Given the description of an element on the screen output the (x, y) to click on. 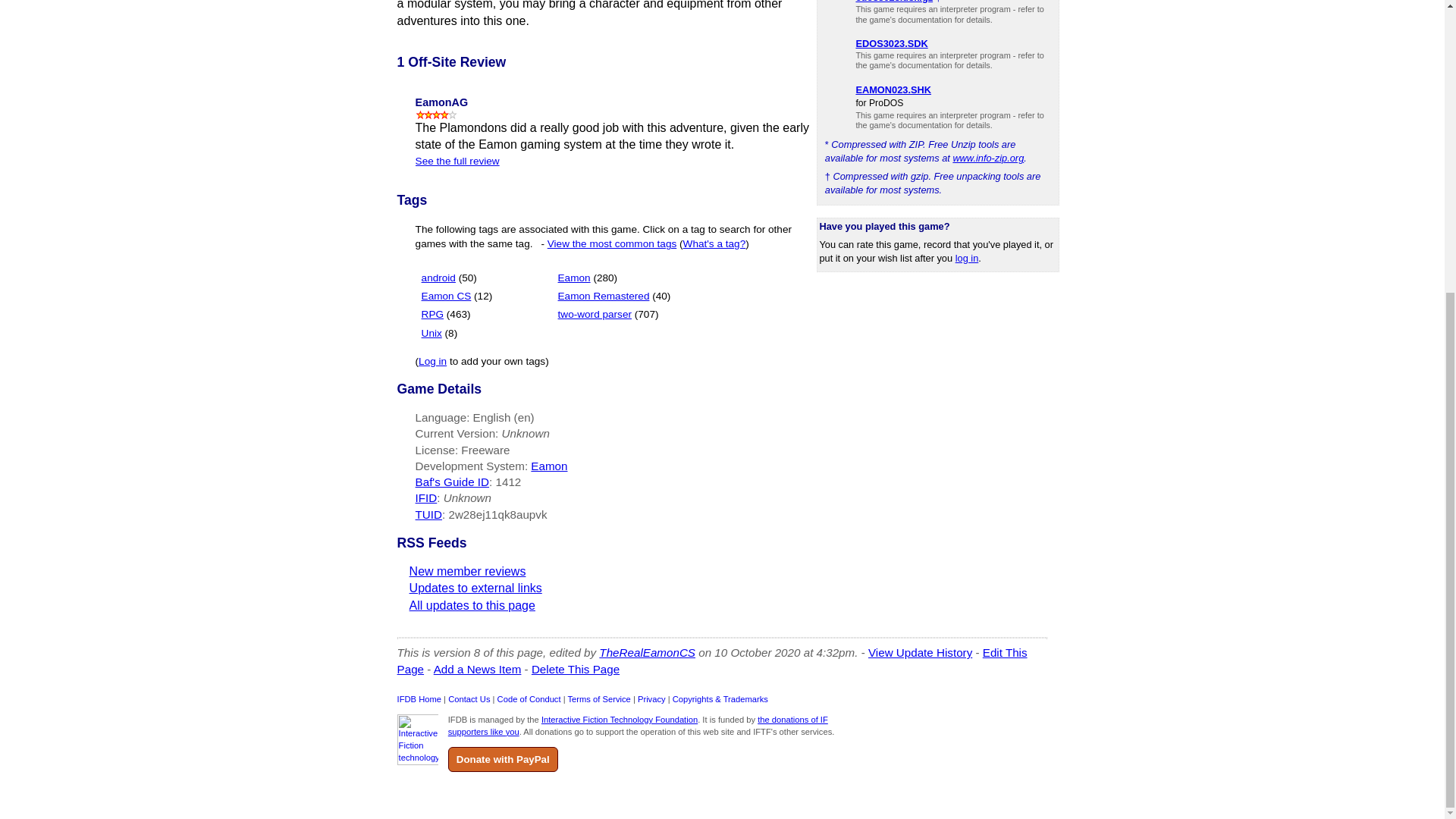
Go to the Baf's Guide listing for this game (508, 481)
Search for games tagged with Eamon Remastered (614, 296)
12 games have this tag (483, 296)
See the full review (456, 161)
463 games have this tag (458, 314)
50 games have this tag (467, 277)
View the most common tags (612, 243)
Eamon (574, 277)
www.info-zip.org (987, 157)
log in (966, 257)
Search for games tagged with android (449, 277)
4 Stars (436, 114)
EDOS3023.SDK (891, 43)
Eamon CS (446, 296)
8 games have this tag (451, 333)
